Given the description of an element on the screen output the (x, y) to click on. 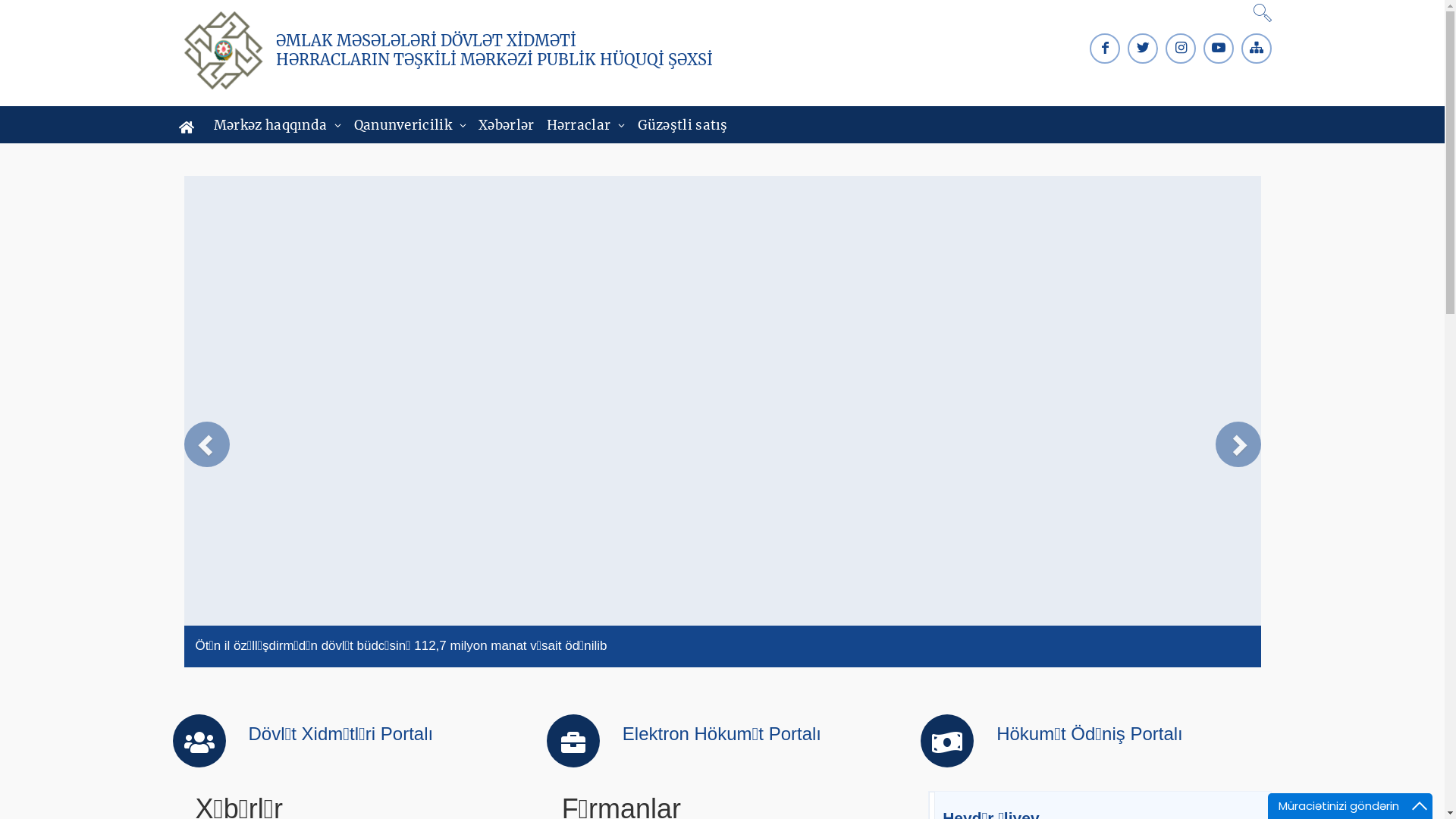
Previous Element type: text (206, 444)
Qanunvericilik Element type: text (410, 124)
Next Element type: text (1237, 444)
